Given the description of an element on the screen output the (x, y) to click on. 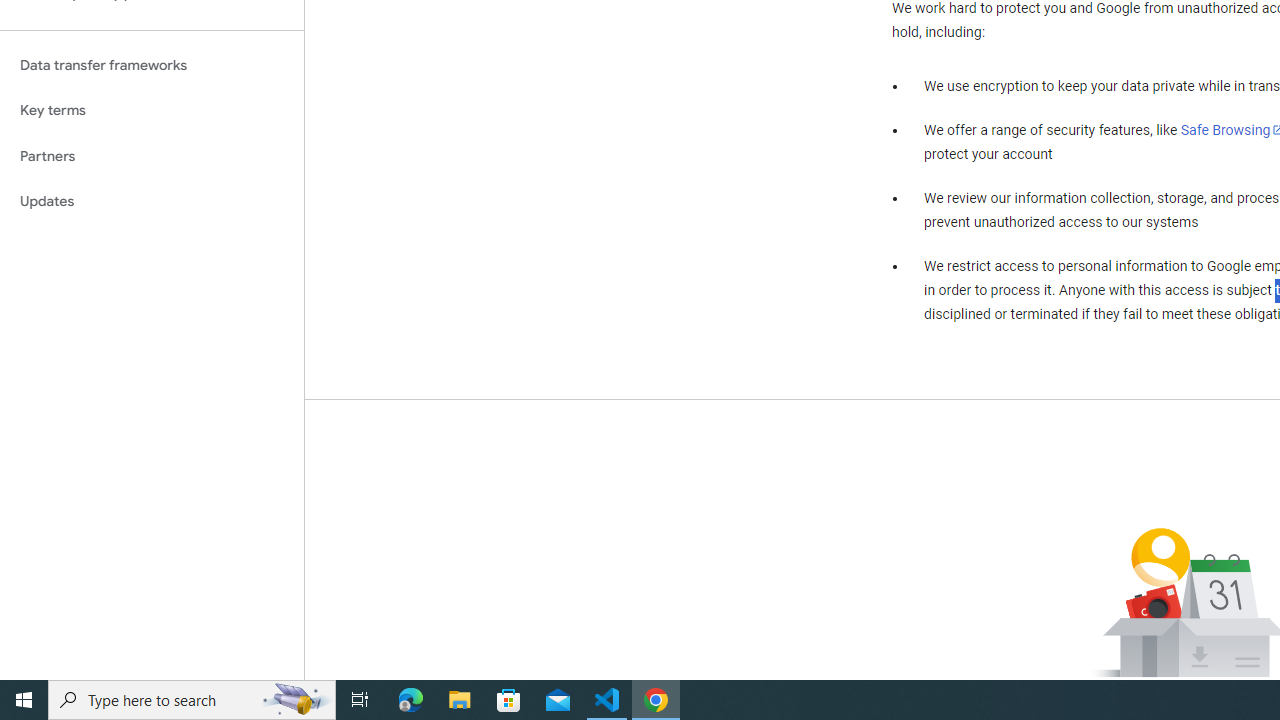
Data transfer frameworks (152, 65)
Partners (152, 156)
Updates (152, 201)
Key terms (152, 110)
